Given the description of an element on the screen output the (x, y) to click on. 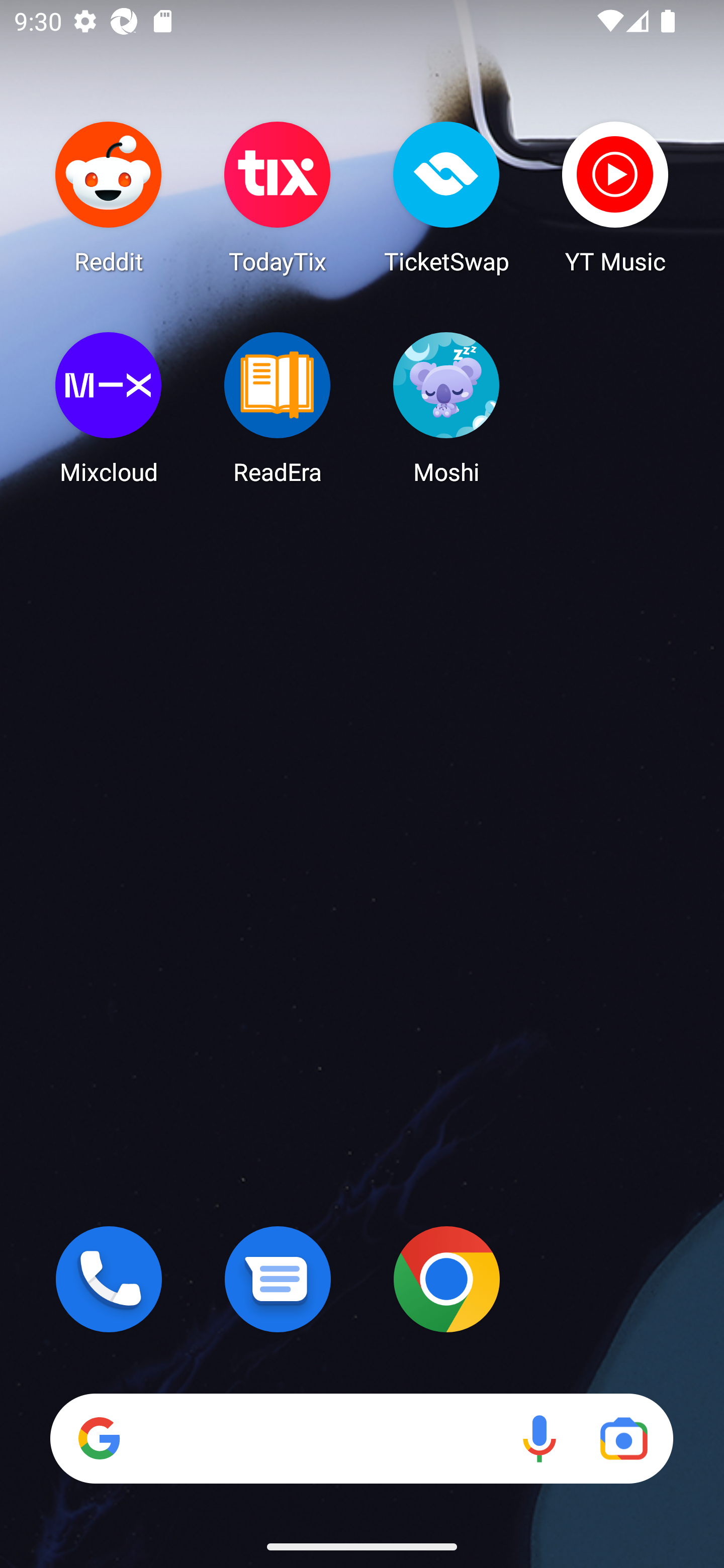
Reddit (108, 196)
TodayTix (277, 196)
TicketSwap (445, 196)
YT Music (615, 196)
Mixcloud (108, 407)
ReadEra (277, 407)
Moshi (445, 407)
Phone (108, 1279)
Messages (277, 1279)
Chrome (446, 1279)
Voice search (539, 1438)
Google Lens (623, 1438)
